Given the description of an element on the screen output the (x, y) to click on. 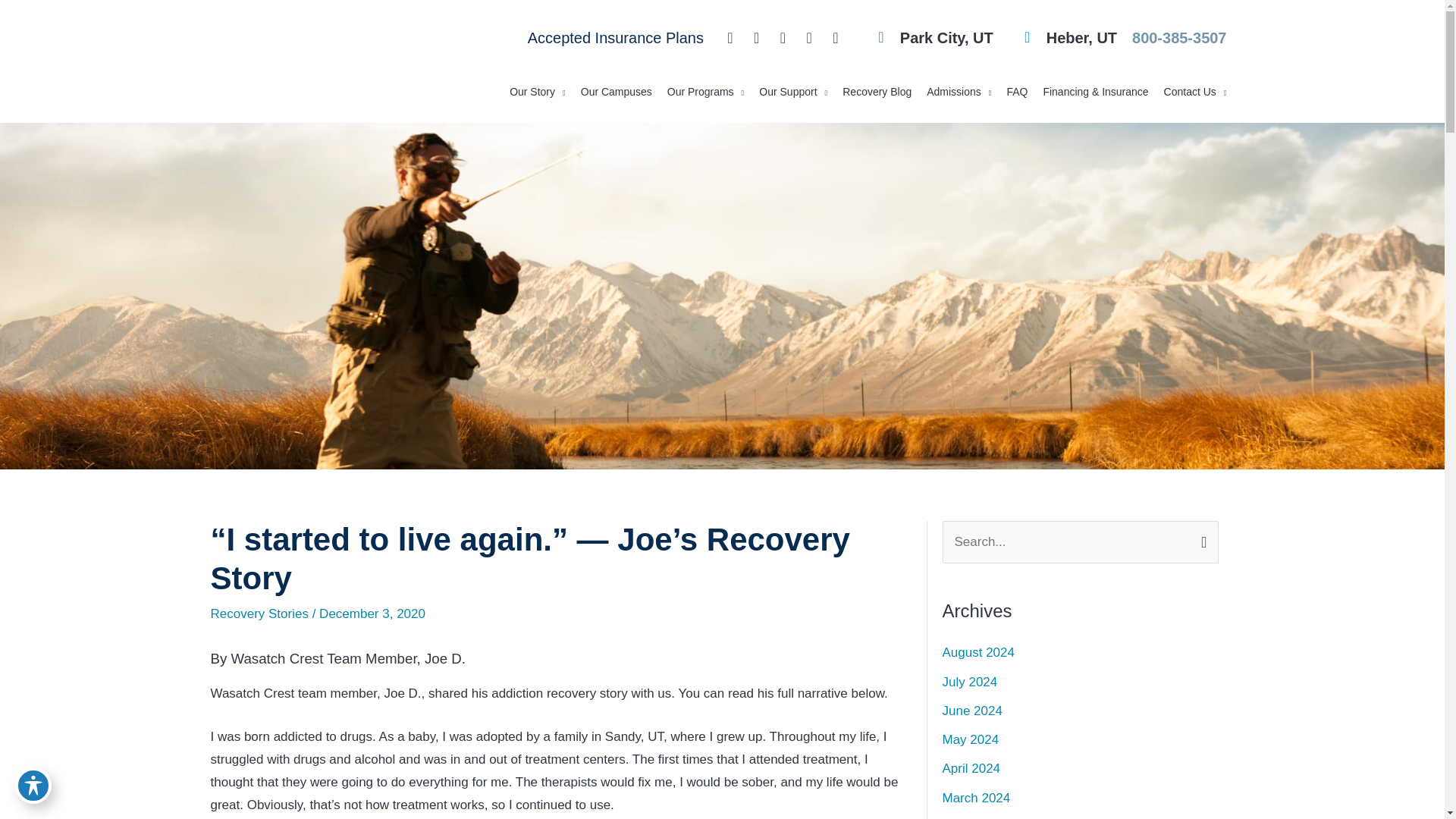
Heber, UT (1062, 37)
800-385-3507 (1178, 37)
Our Programs (705, 91)
Accepted Insurance Plans (615, 37)
Our Campuses (616, 91)
Park City, UT (926, 37)
Our Story (537, 91)
